Given the description of an element on the screen output the (x, y) to click on. 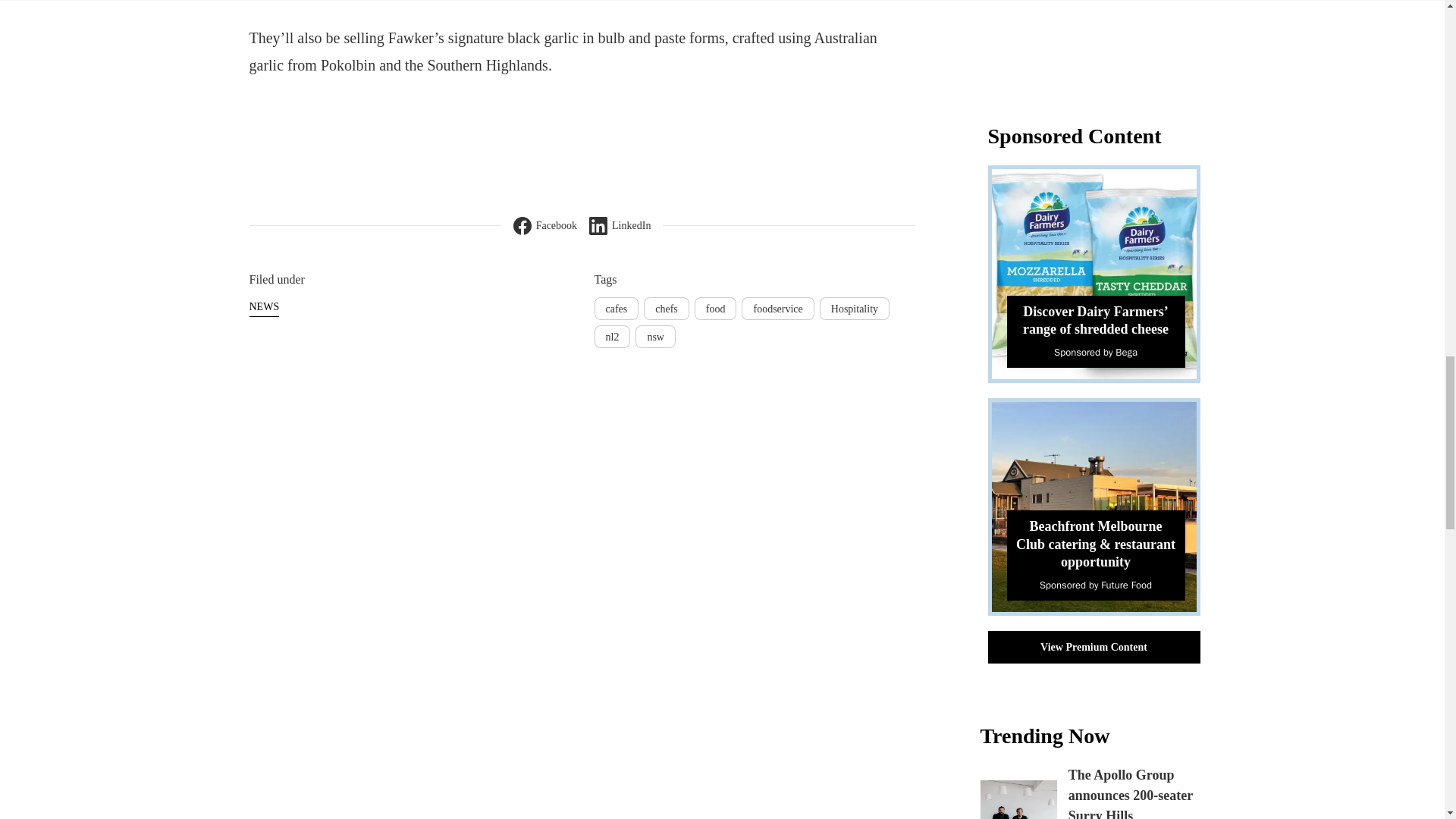
Facebook (544, 226)
The Apollo Group announces 200-seater Surry Hills restaurant (1018, 799)
NEWS (263, 306)
chefs (665, 308)
The Apollo Group announces 200-seater Surry Hills restaurant (1130, 793)
food (715, 308)
LinkedIn (619, 226)
cafes (616, 308)
foodservice (777, 308)
Hospitality (854, 308)
3rd party ad content (1100, 43)
